Given the description of an element on the screen output the (x, y) to click on. 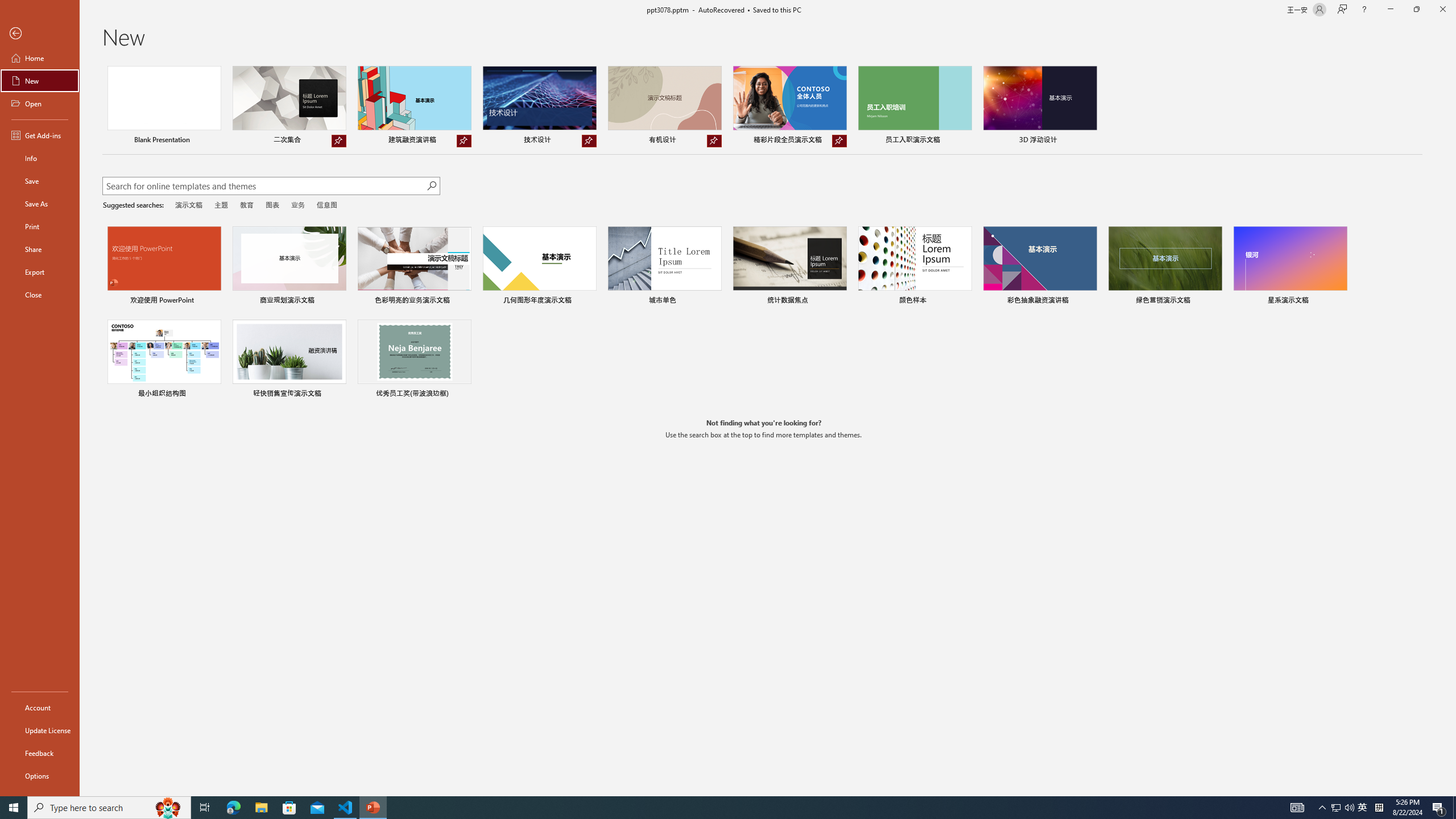
Export (40, 271)
Start searching (431, 185)
Info (40, 157)
Class: NetUIScrollBar (1450, 428)
